Given the description of an element on the screen output the (x, y) to click on. 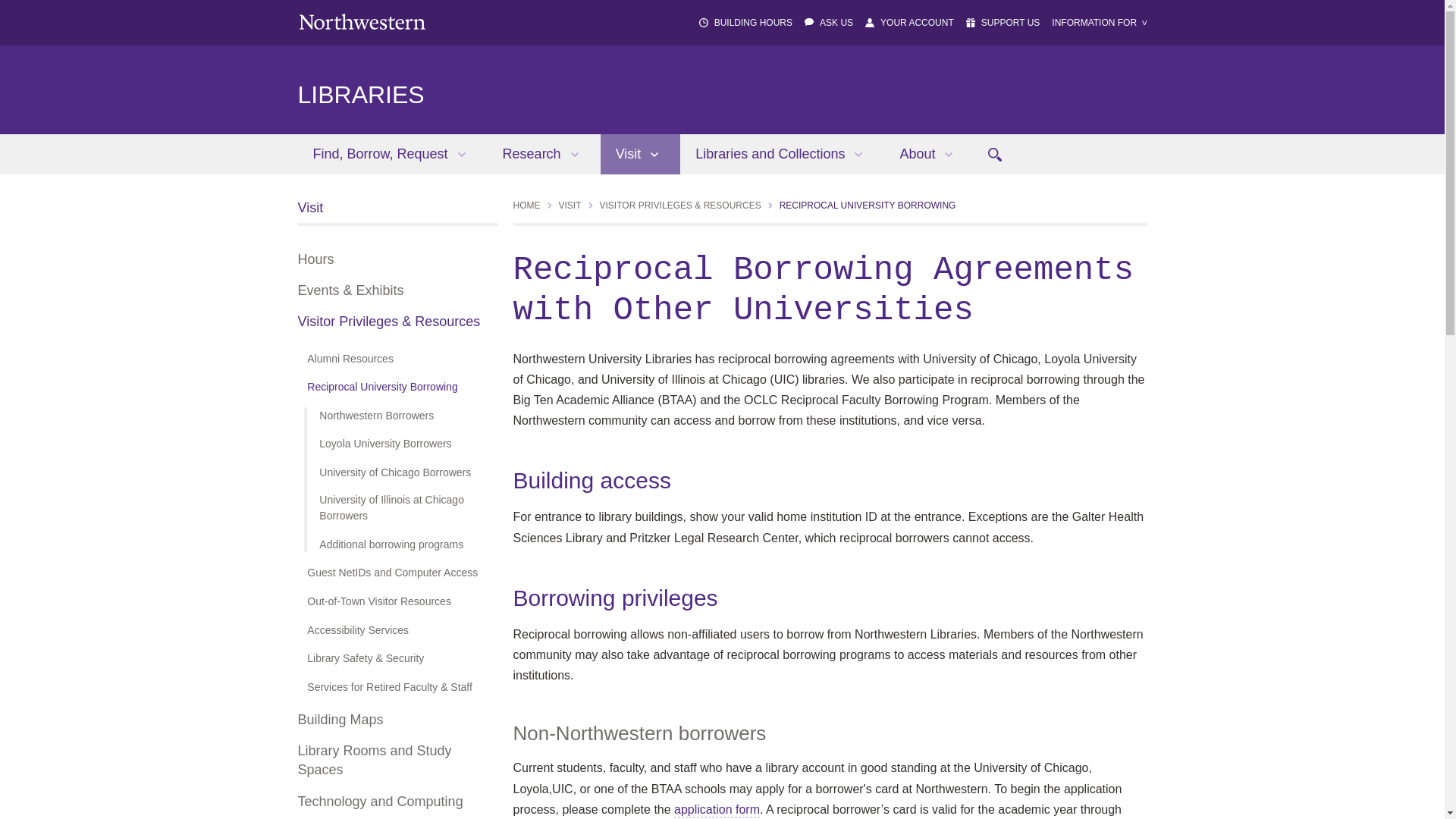
Northwestern University Home (361, 21)
LIBRARIES (360, 94)
BUILDING HOURS (753, 22)
Libraries Home (360, 94)
SUPPORT US (1011, 22)
ASK US (836, 22)
YOUR ACCOUNT (916, 22)
